Given the description of an element on the screen output the (x, y) to click on. 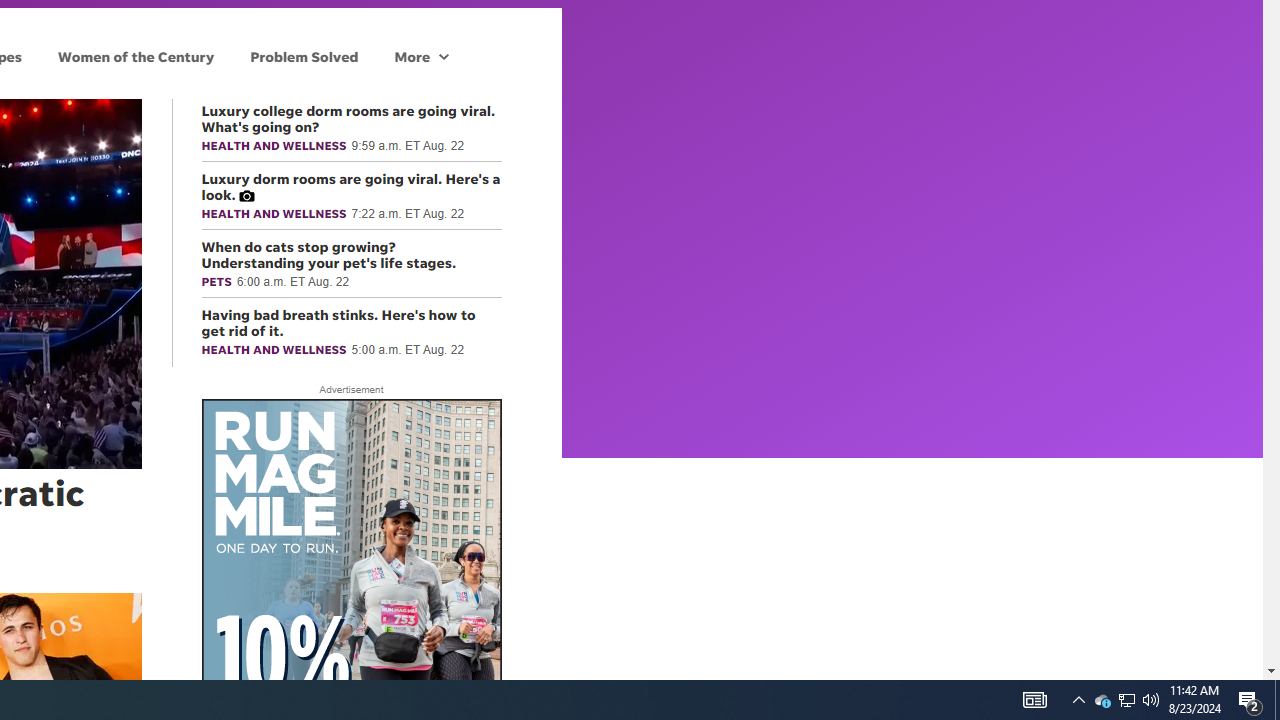
More life navigation (421, 56)
Women of the Century (136, 56)
Problem Solved (304, 56)
